Given the description of an element on the screen output the (x, y) to click on. 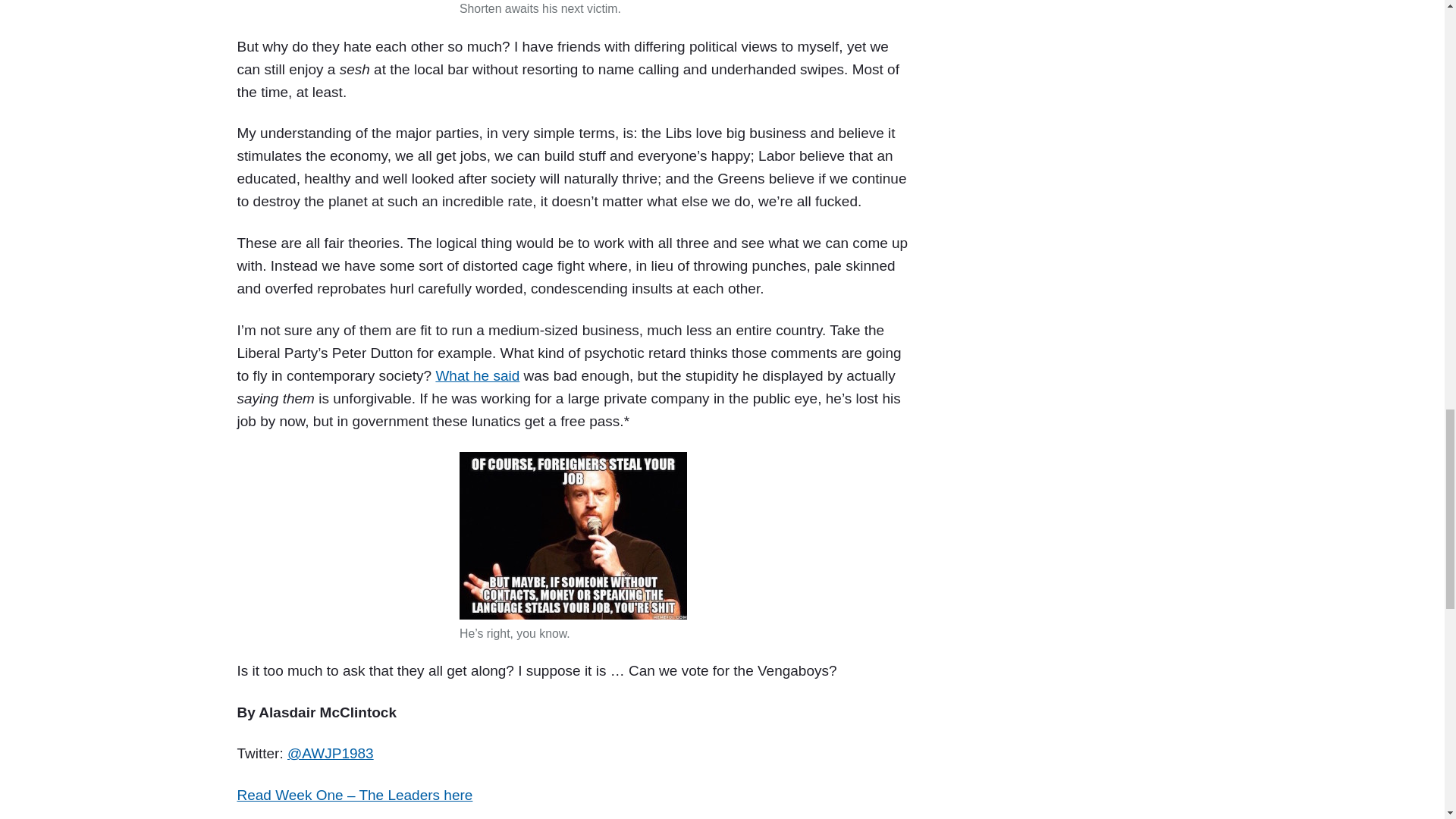
What he said (477, 375)
